Given the description of an element on the screen output the (x, y) to click on. 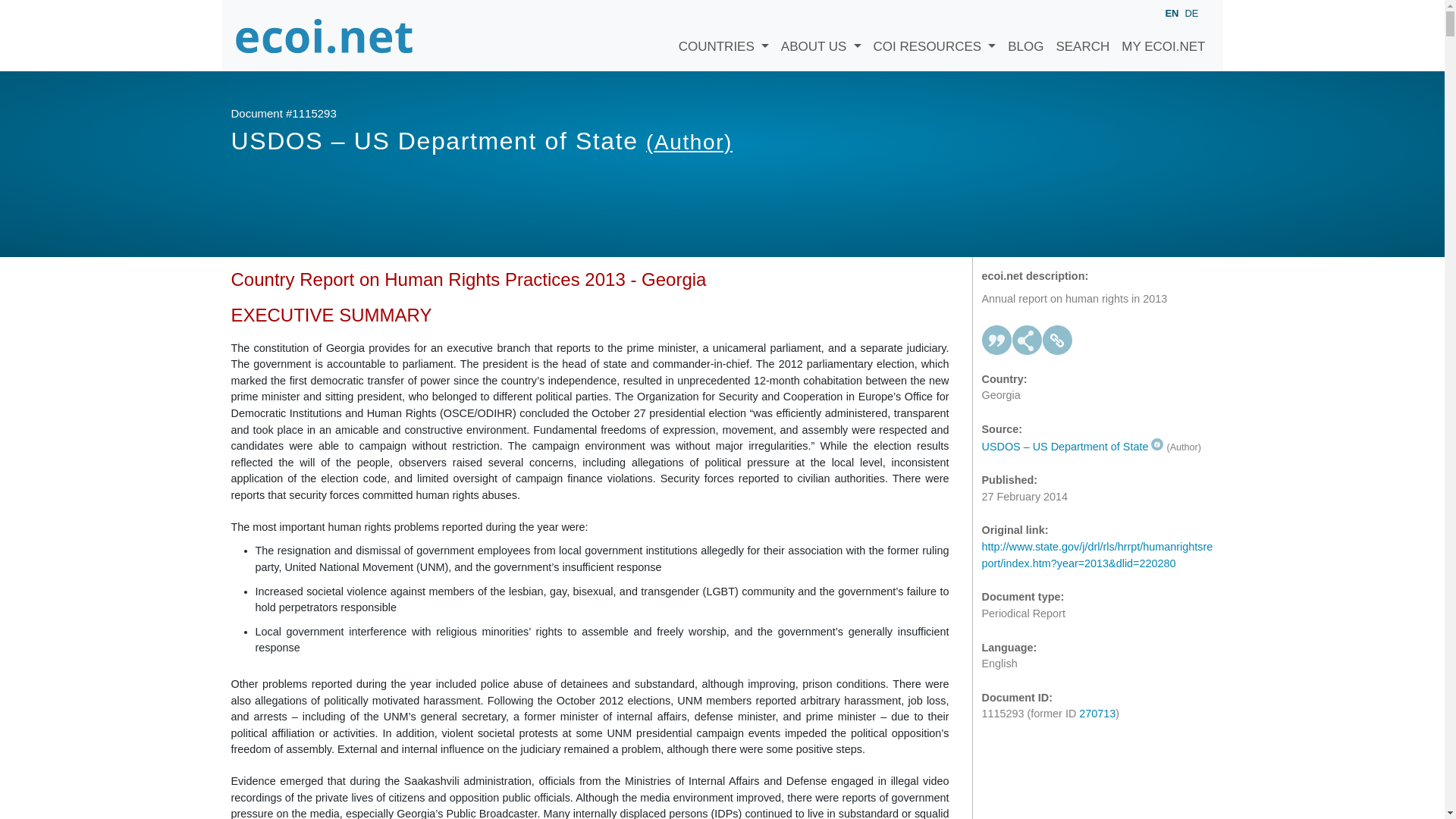
COI RESOURCES (935, 35)
English (1170, 13)
Go to ecoi.net homepage (323, 35)
BLOG (1025, 35)
German (1190, 12)
MY ECOI.NET (1163, 35)
Share (1026, 340)
COUNTRIES (723, 35)
Cite as (996, 340)
Read source description (1072, 446)
